Given the description of an element on the screen output the (x, y) to click on. 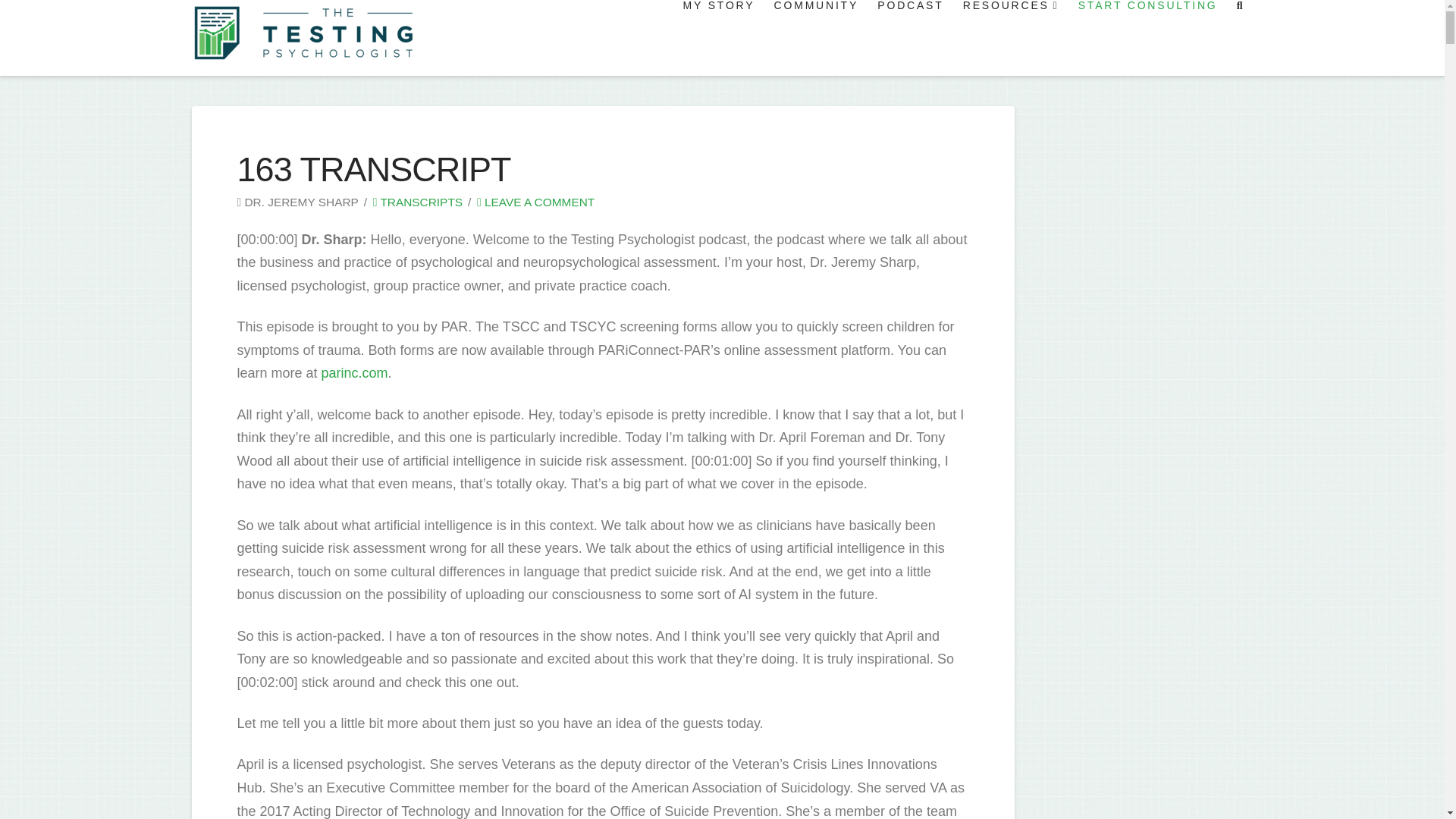
COMMUNITY (814, 38)
MY STORY (717, 38)
START CONSULTING (1146, 38)
RESOURCES (1009, 38)
LEAVE A COMMENT (535, 201)
PODCAST (909, 38)
parinc.com (352, 372)
TRANSCRIPTS (417, 201)
